Given the description of an element on the screen output the (x, y) to click on. 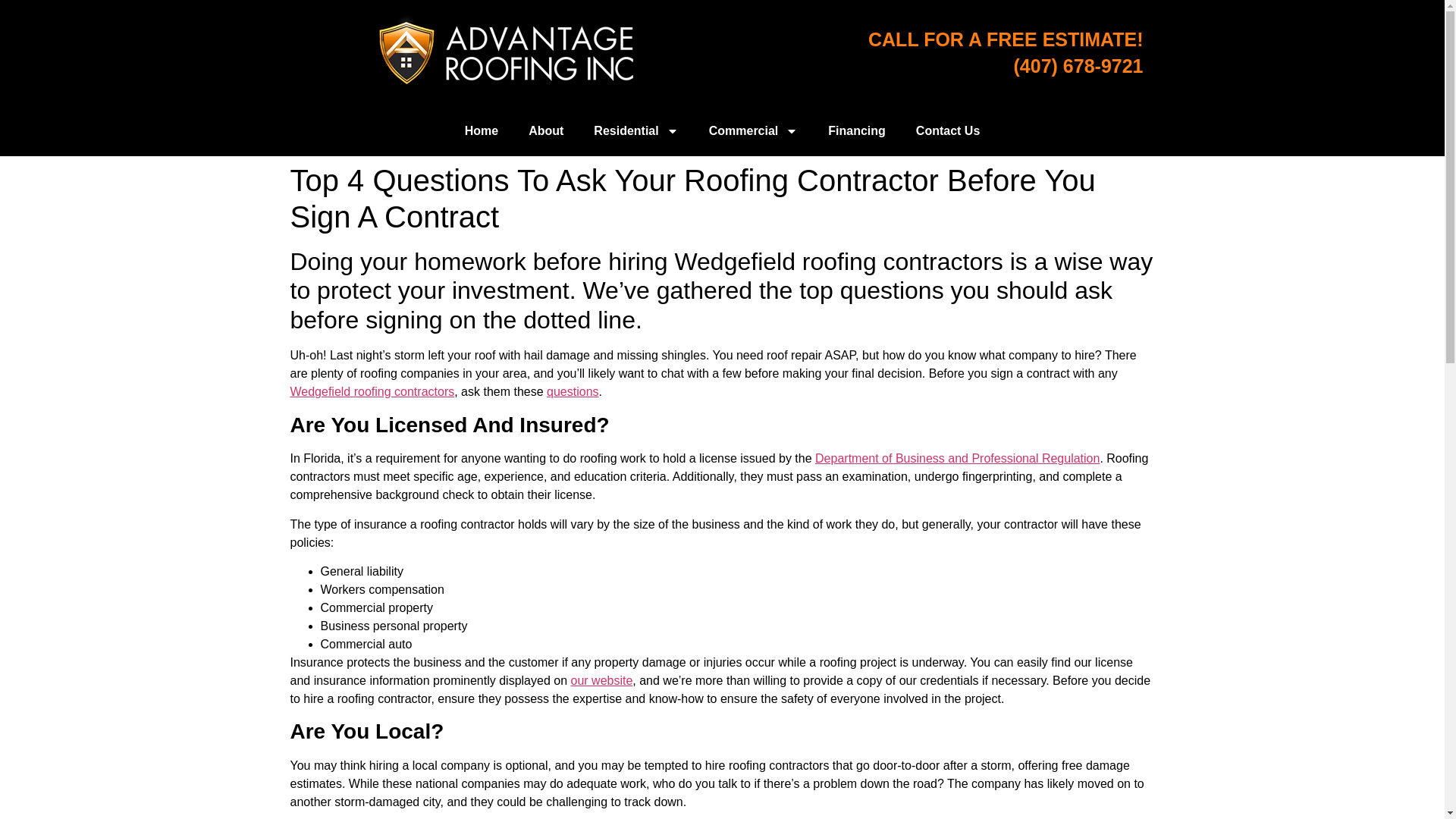
Wedgefield roofing contractors (371, 391)
Home (481, 130)
questions (572, 391)
Financing (856, 130)
Department of Business and Professional Regulation (957, 458)
our website (600, 680)
Contact Us (947, 130)
Commercial (753, 130)
Residential (635, 130)
About (545, 130)
